Given the description of an element on the screen output the (x, y) to click on. 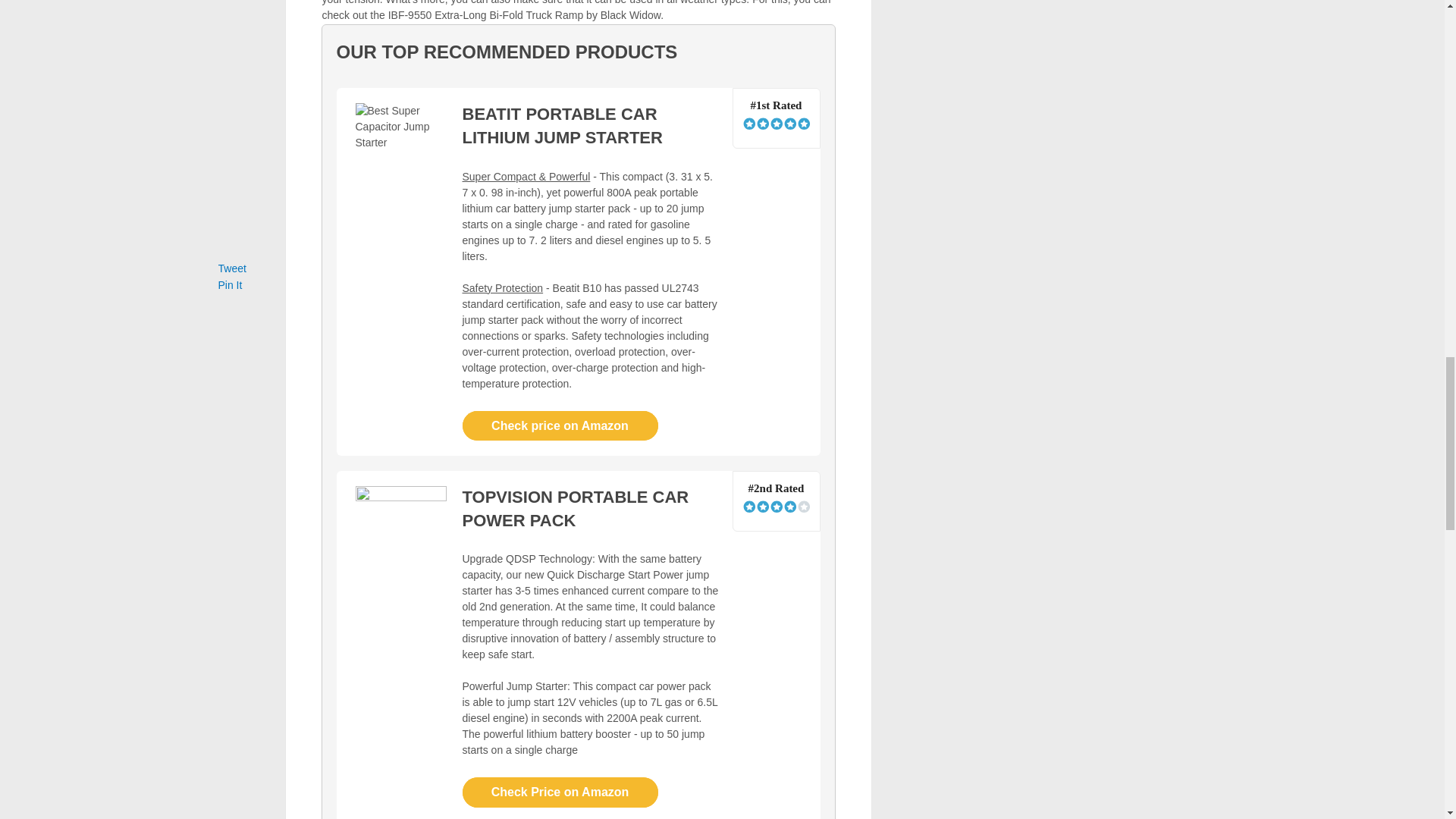
beatit (400, 146)
topvision (400, 532)
Check Price on Amazon (560, 791)
Check price on Amazon (560, 425)
